Given the description of an element on the screen output the (x, y) to click on. 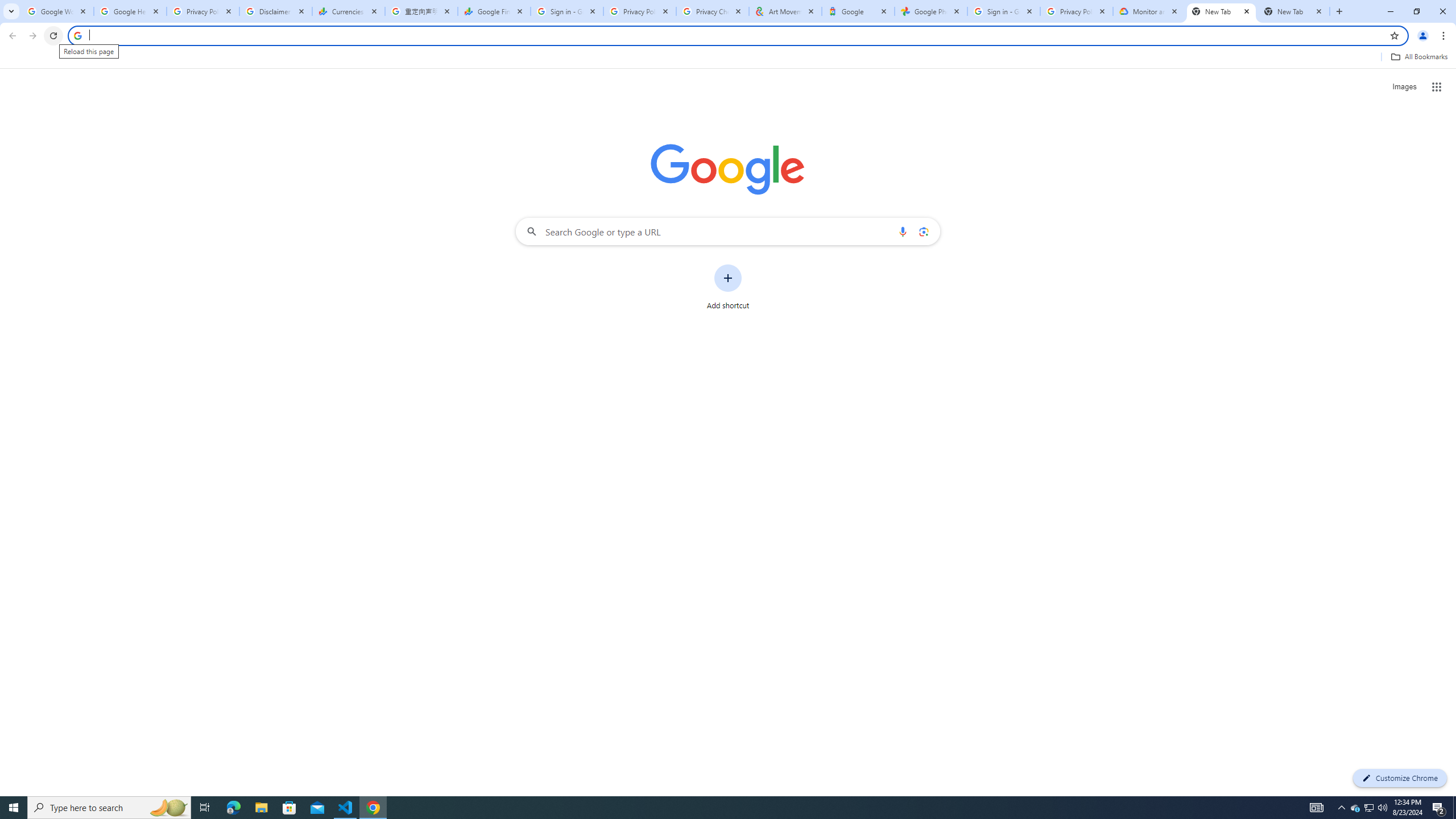
New Tab (1293, 11)
Bookmarks (728, 58)
Google Workspace Admin Community (57, 11)
Sign in - Google Accounts (1003, 11)
New Tab (1221, 11)
Currencies - Google Finance (348, 11)
Privacy Checkup (712, 11)
